Given the description of an element on the screen output the (x, y) to click on. 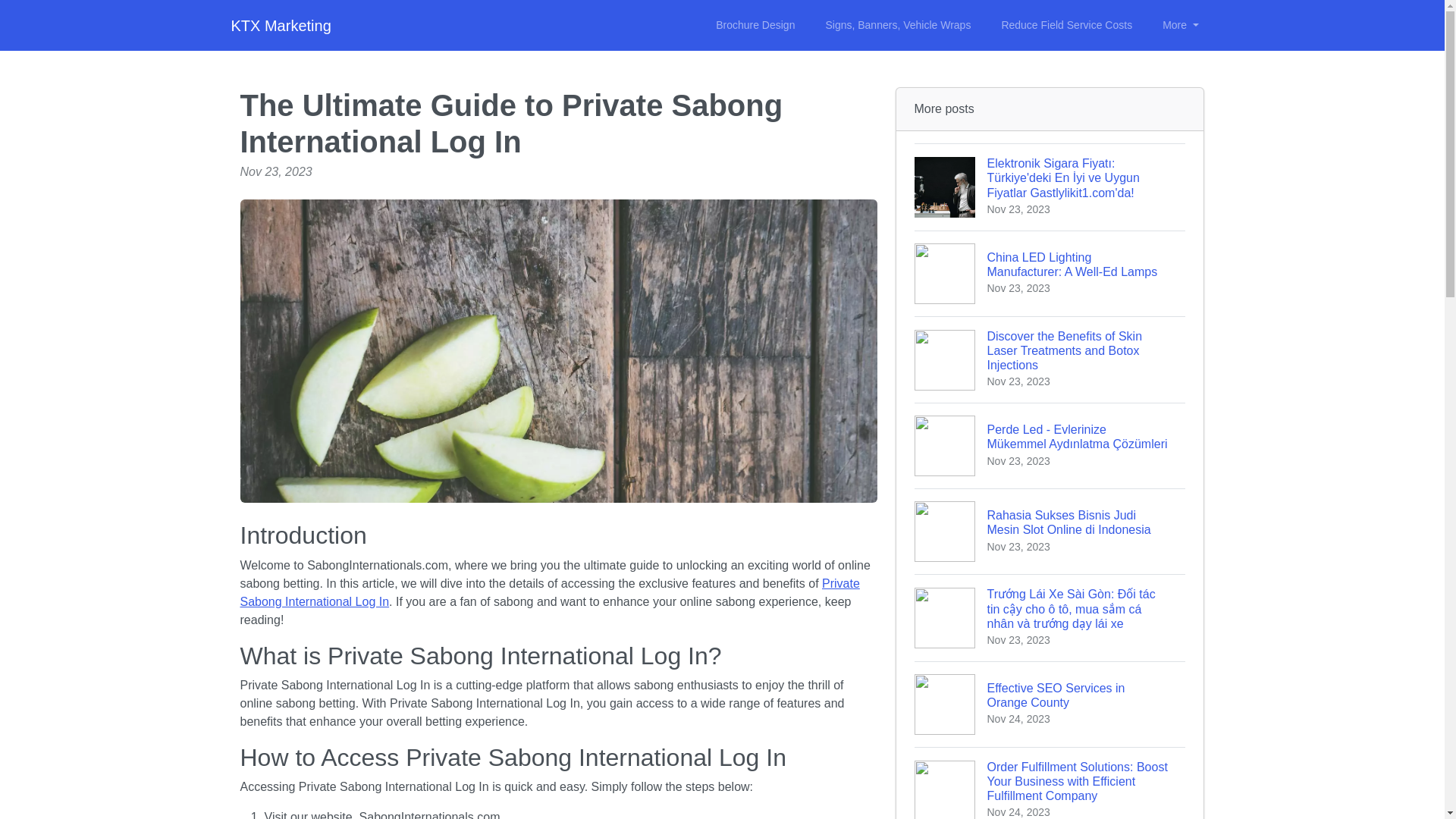
KTX Marketing (280, 25)
Signs, Banners, Vehicle Wraps (897, 25)
Brochure Design (754, 25)
Reduce Field Service Costs (1066, 25)
More (1180, 25)
Private Sabong International Log In (549, 592)
